Given the description of an element on the screen output the (x, y) to click on. 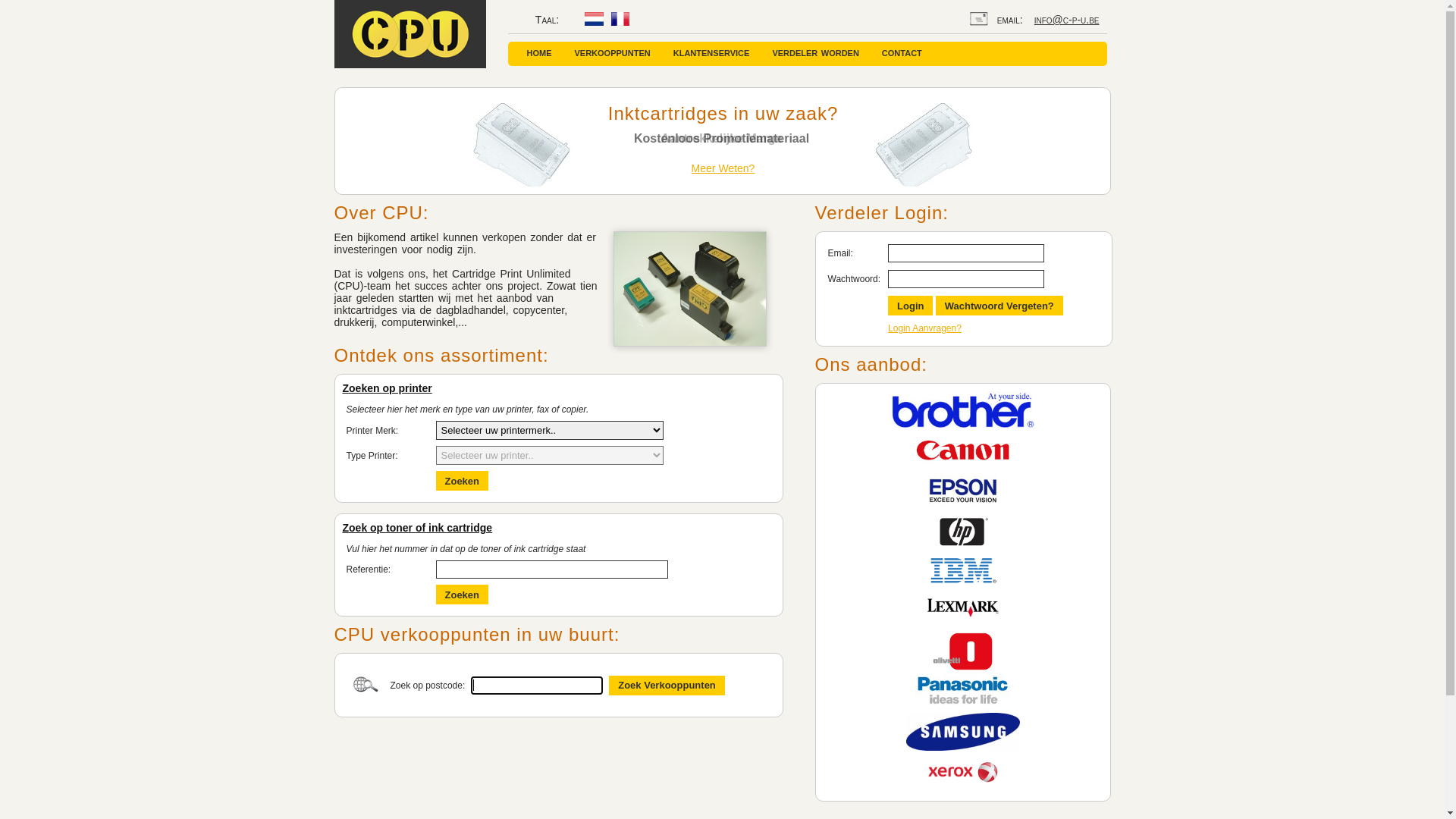
Zoeken Element type: text (461, 594)
Wachtwoord Vergeten? Element type: text (999, 305)
Zoeken Element type: text (461, 480)
Login Aanvragen? Element type: text (924, 328)
klantenservice Element type: text (711, 53)
home Element type: text (539, 53)
Nederlands Element type: hover (593, 18)
verkooppunten Element type: text (611, 53)
Login Element type: text (910, 305)
Zoek Verkooppunten Element type: text (666, 684)
verdeler worden Element type: text (814, 53)
contact Element type: text (901, 53)
Meer Weten? Element type: text (723, 168)
info@c-p-u.be Element type: text (1066, 19)
